Given the description of an element on the screen output the (x, y) to click on. 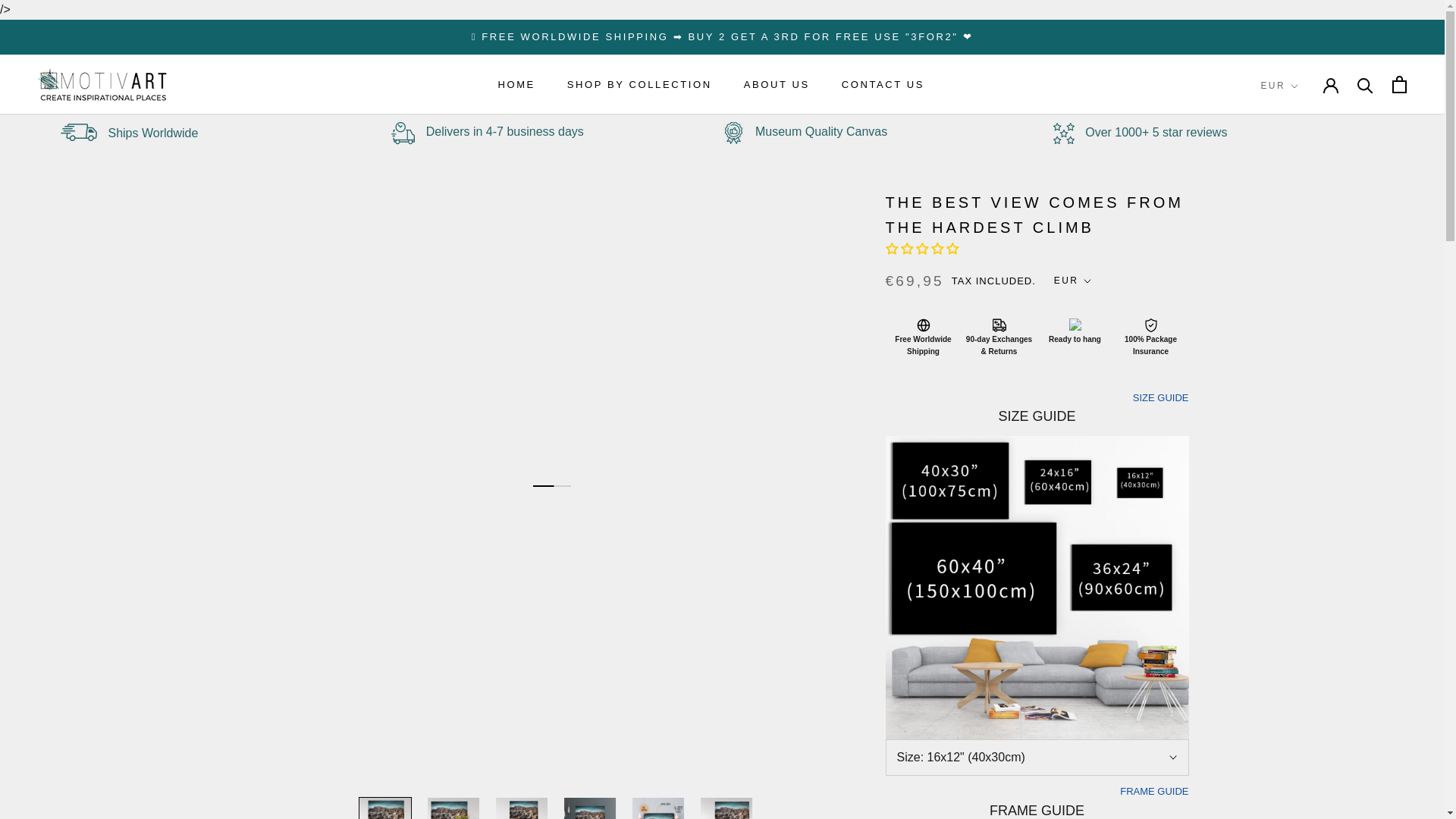
SHOP BY COLLECTION (515, 84)
